Given the description of an element on the screen output the (x, y) to click on. 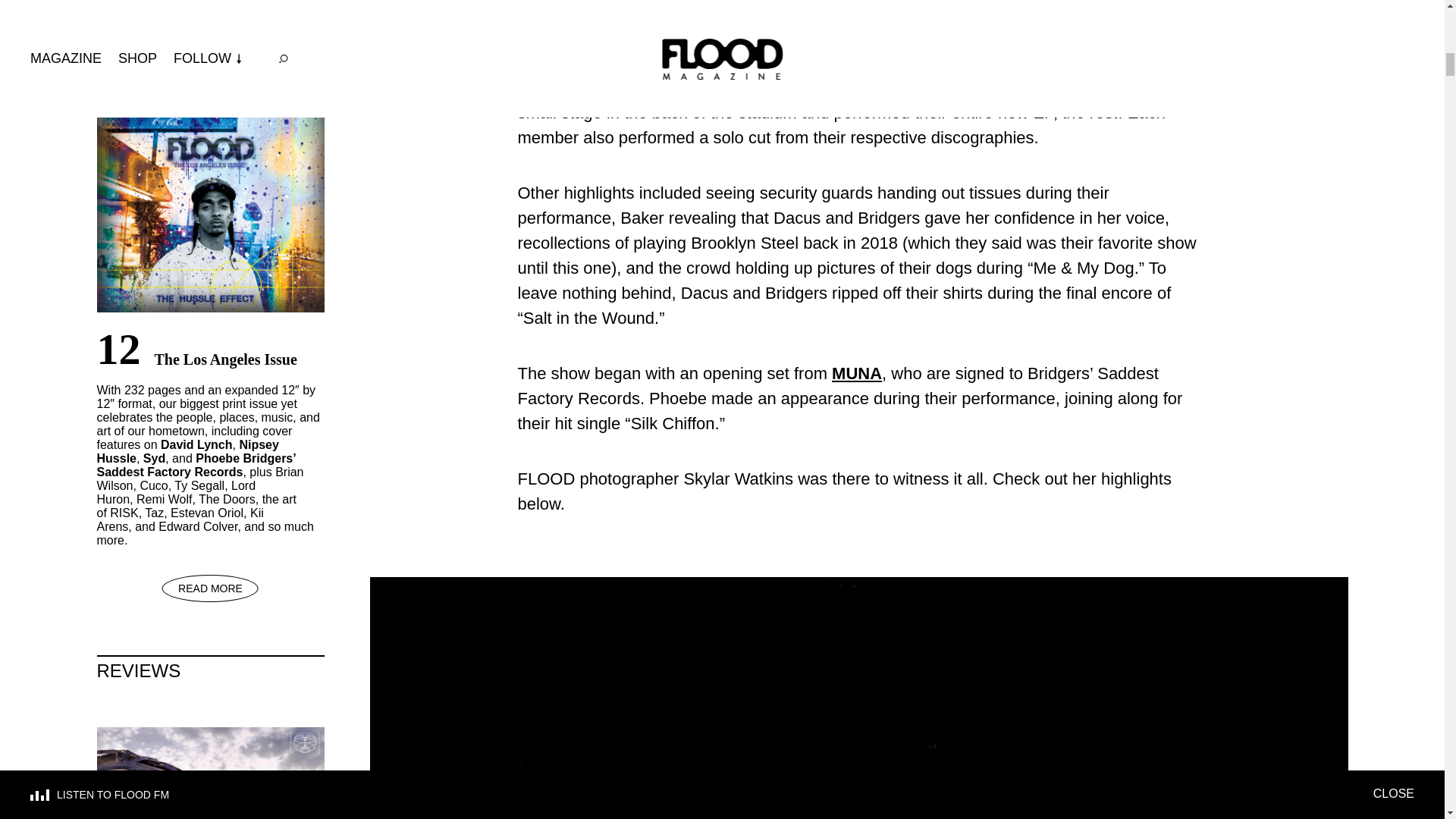
MUNA (856, 373)
REVIEWS (210, 670)
MAGAZINE (210, 28)
